Given the description of an element on the screen output the (x, y) to click on. 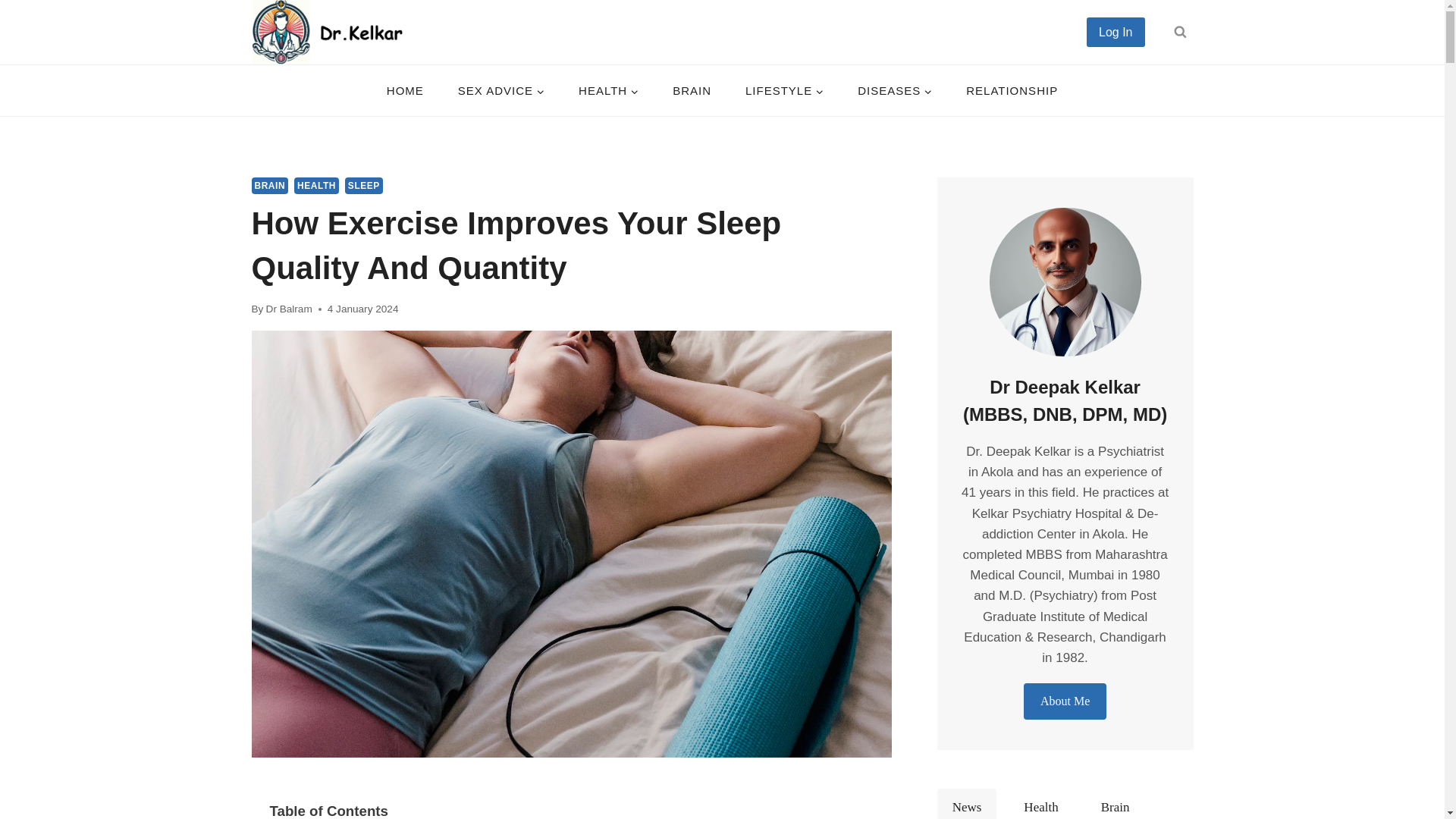
DISEASES (895, 90)
SLEEP (363, 185)
Dr Balram (289, 308)
Log In (1115, 31)
HOME (405, 90)
LIFESTYLE (784, 90)
BRAIN (692, 90)
RELATIONSHIP (1012, 90)
HEALTH (316, 185)
HEALTH (609, 90)
